Given the description of an element on the screen output the (x, y) to click on. 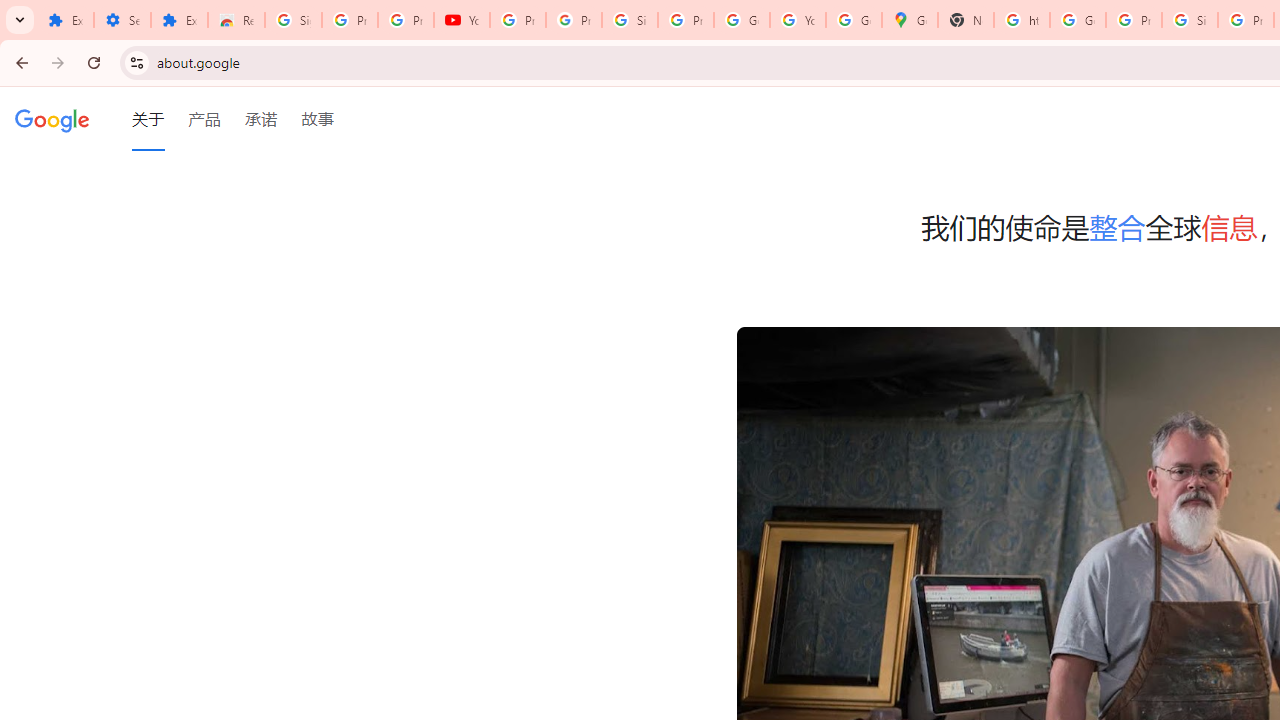
Google Account (742, 20)
